Given the description of an element on the screen output the (x, y) to click on. 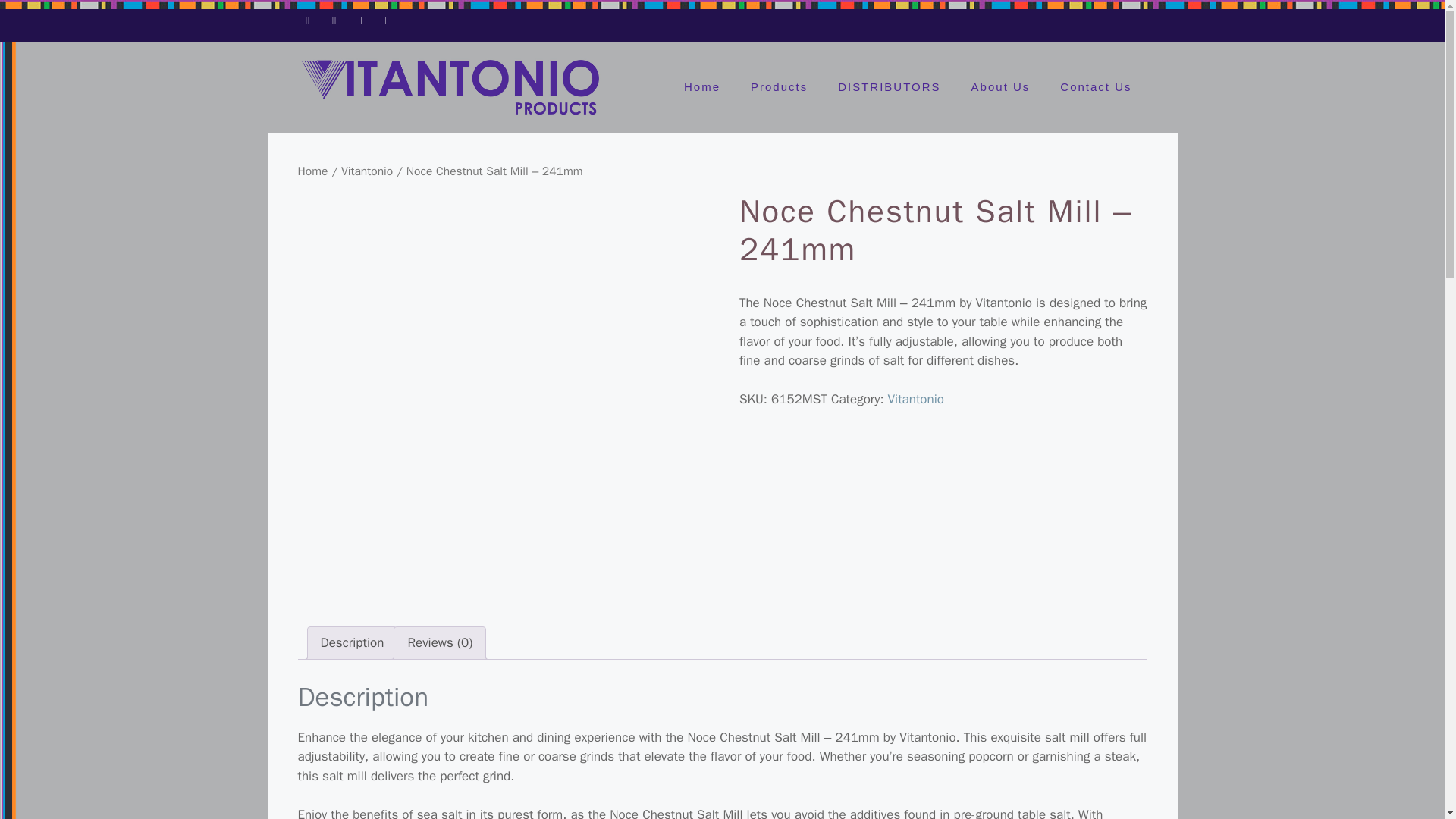
LinkedIn (387, 17)
Products (778, 86)
About Us (1000, 86)
Home (312, 171)
Vitantonio (366, 171)
Twitter (333, 17)
Instagram (360, 17)
Contact Us (1096, 86)
DISTRIBUTORS (888, 86)
Vitantonio (915, 399)
Description (352, 643)
Home (701, 86)
Facebook (307, 17)
